Given the description of an element on the screen output the (x, y) to click on. 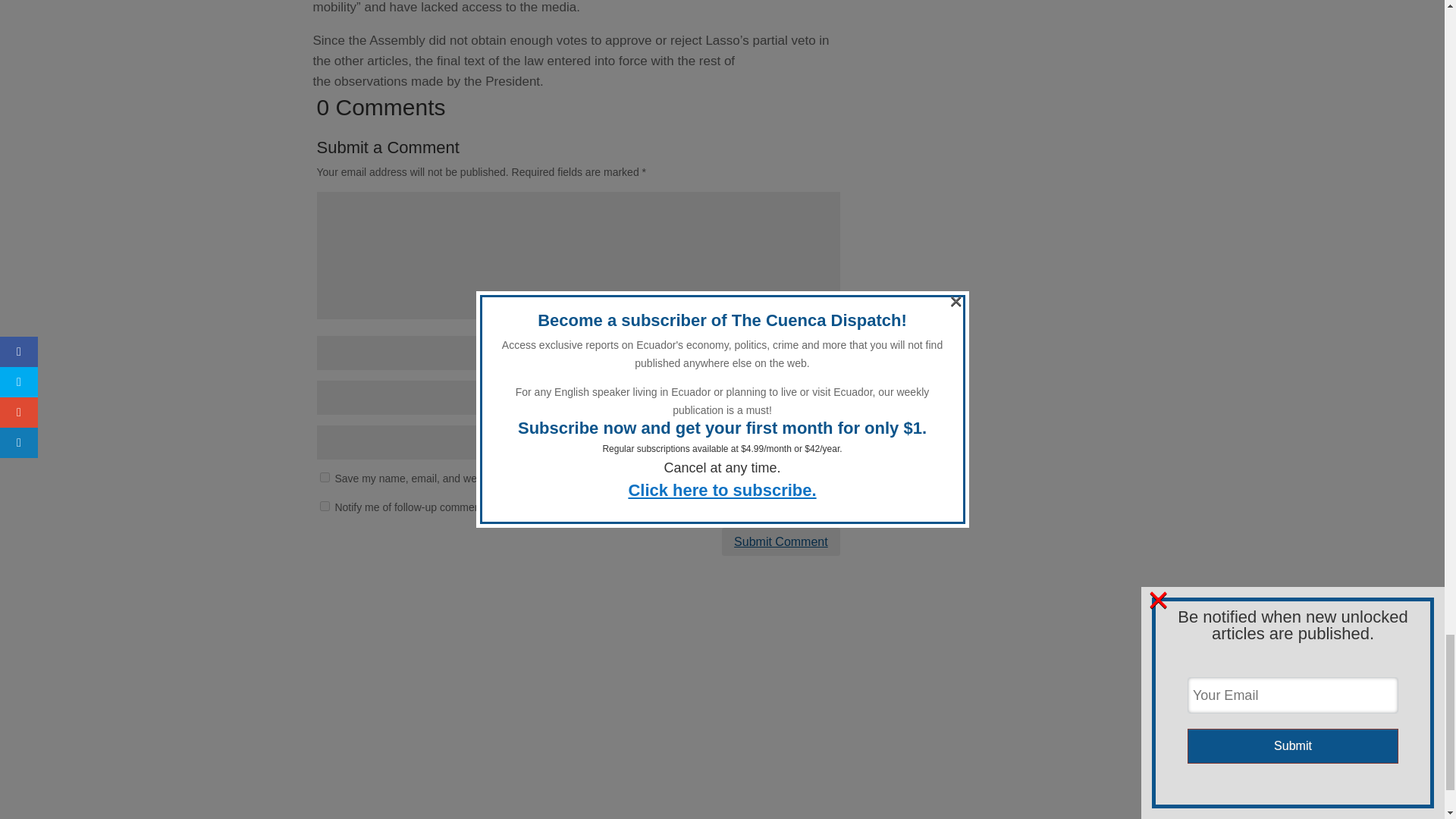
yes (325, 477)
subscribe (325, 506)
